Given the description of an element on the screen output the (x, y) to click on. 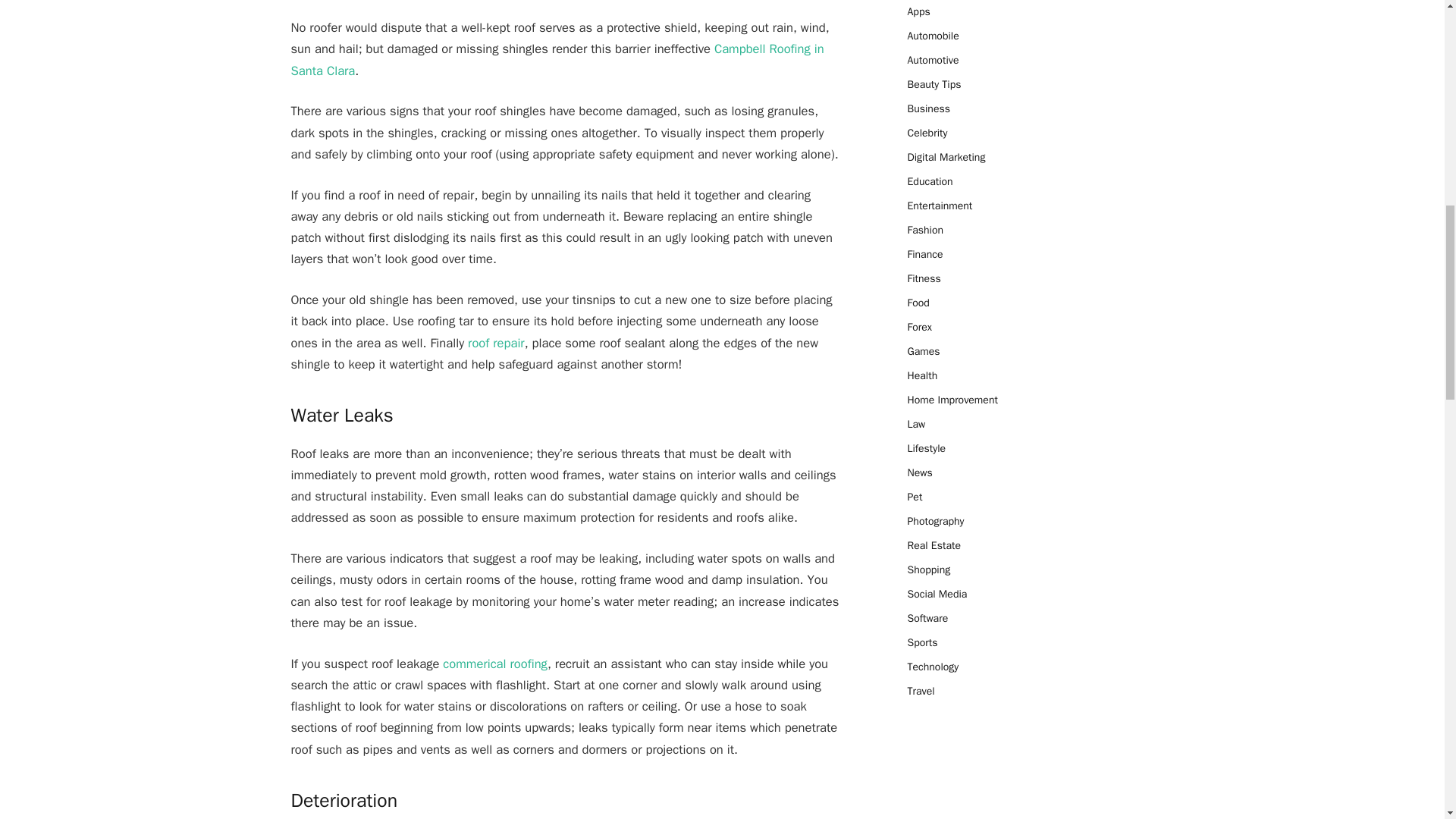
commerical roofing (494, 663)
roof repair (495, 342)
Campbell Roofing in Santa Clara (557, 58)
